Given the description of an element on the screen output the (x, y) to click on. 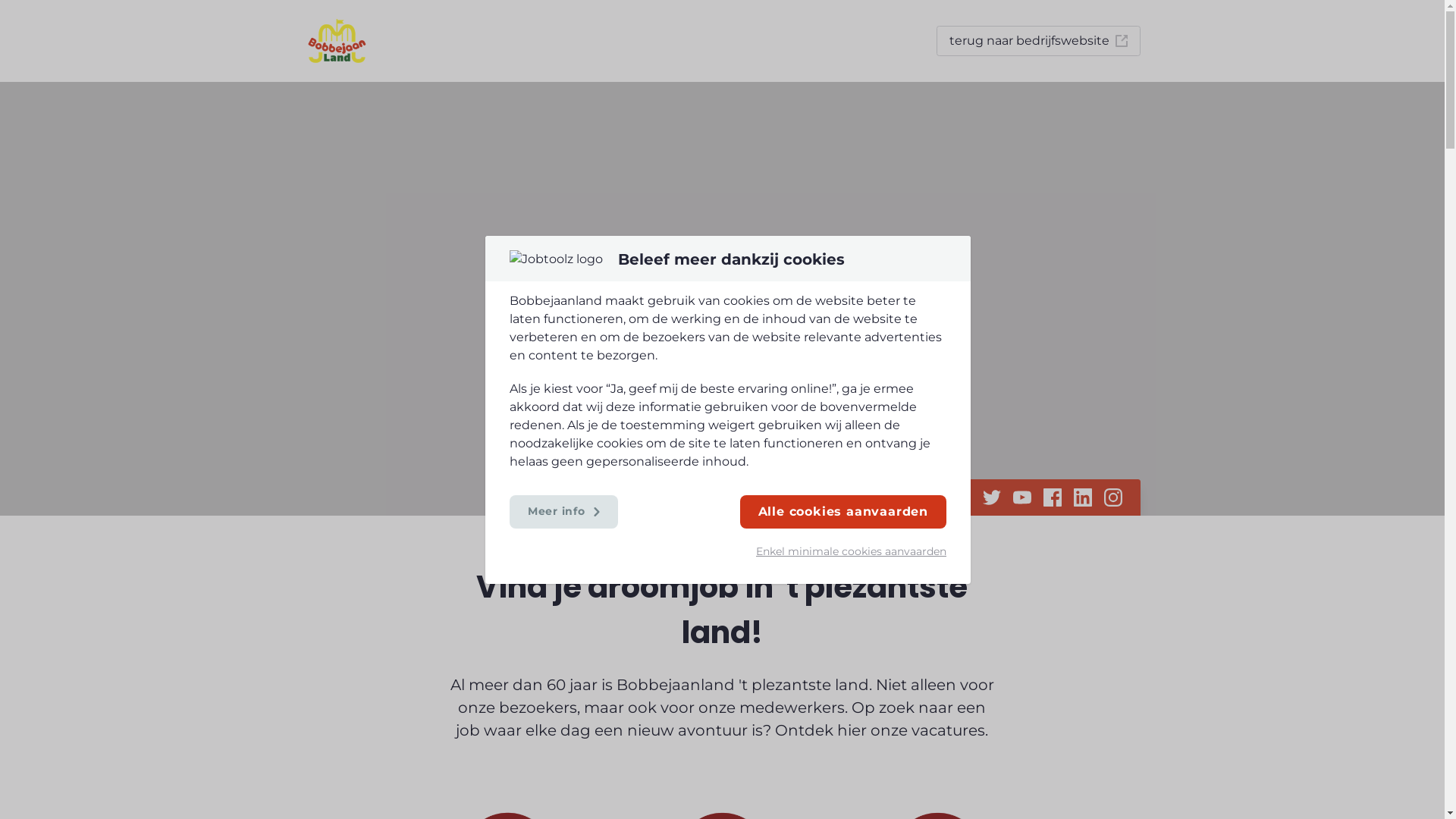
facebook Element type: hover (1052, 497)
Alle cookies aanvaarden Element type: text (843, 510)
terug naar bedrijfswebsite Element type: text (1037, 40)
instagram Element type: hover (1113, 497)
twitter Element type: hover (991, 497)
Enkel minimale cookies aanvaarden Element type: text (843, 550)
linkedin Element type: hover (1082, 497)
youtube Element type: hover (1022, 496)
Meer info Element type: text (563, 510)
